Given the description of an element on the screen output the (x, y) to click on. 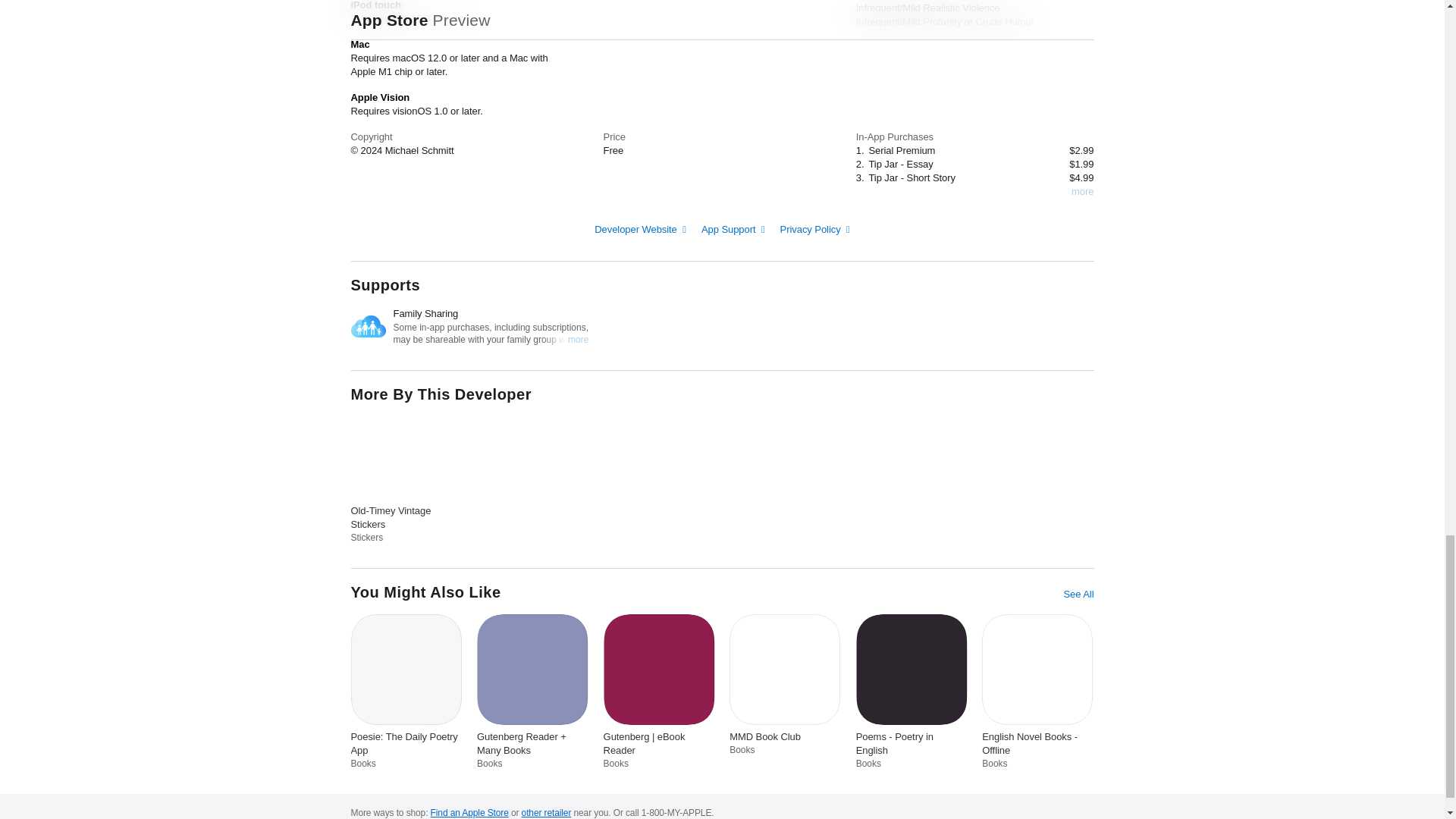
Developer Website (639, 228)
App Support (733, 228)
Privacy Policy (815, 228)
more (1082, 192)
